Given the description of an element on the screen output the (x, y) to click on. 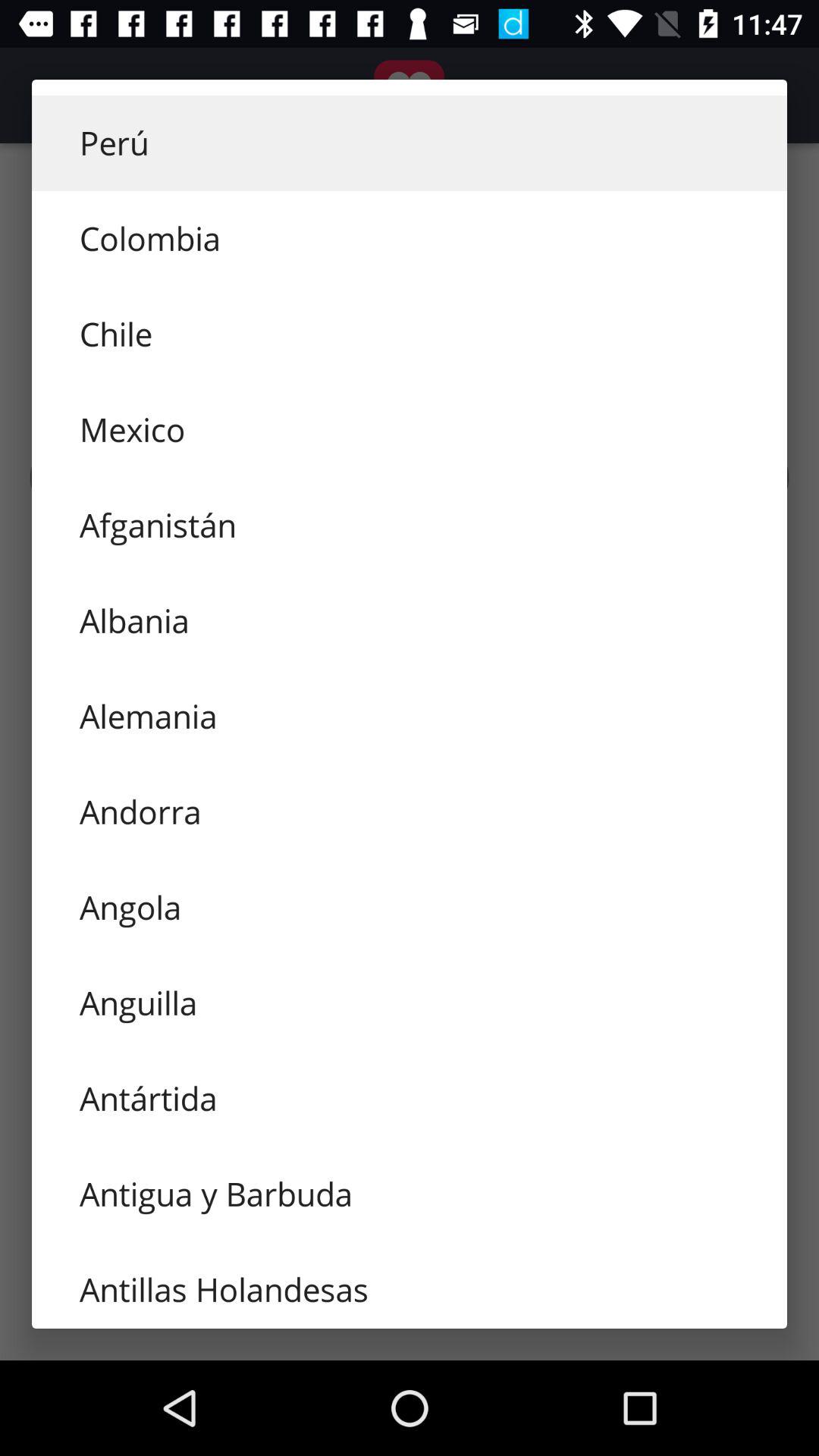
select icon above colombia item (409, 143)
